Given the description of an element on the screen output the (x, y) to click on. 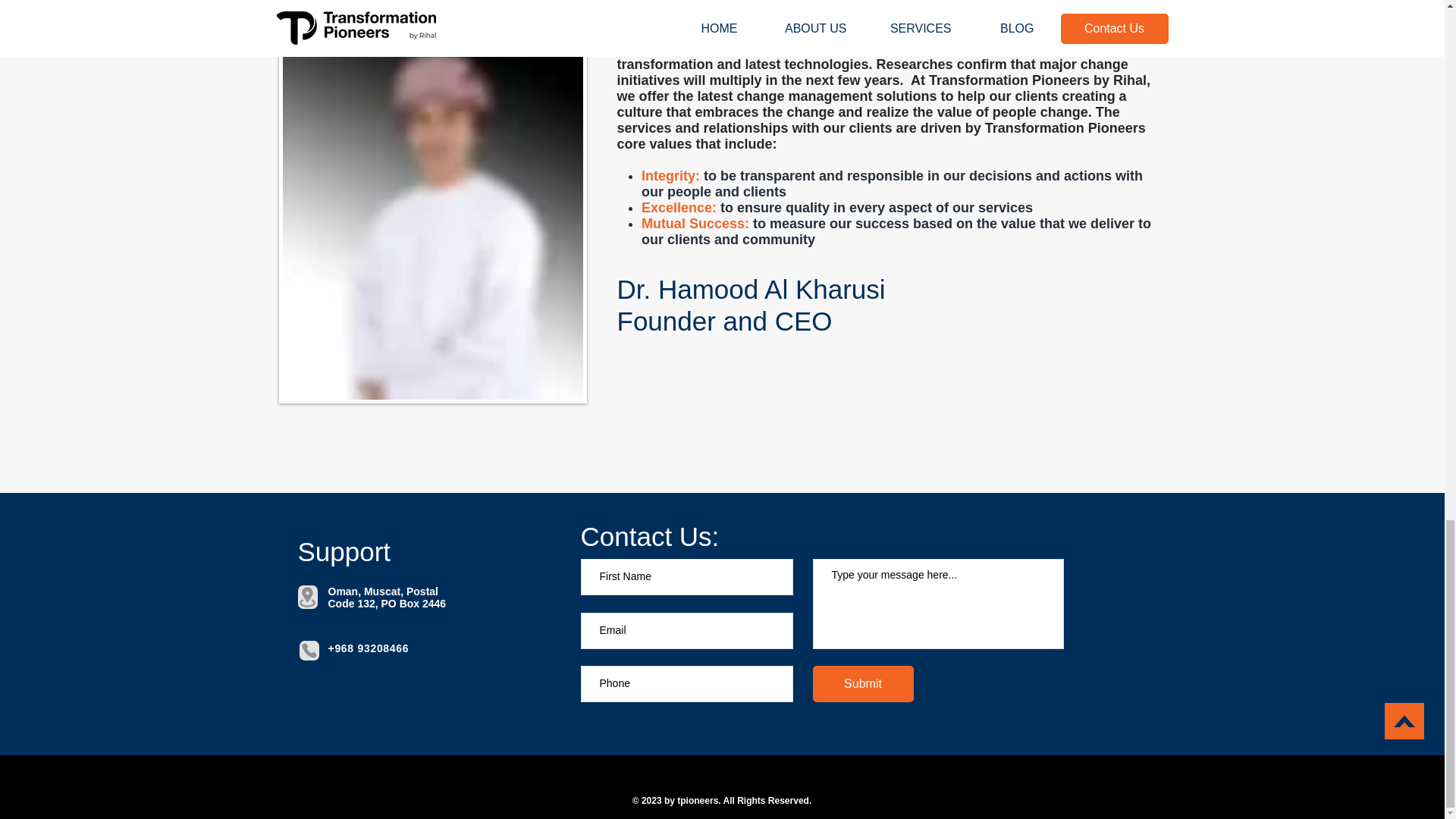
Submit (863, 683)
